Given the description of an element on the screen output the (x, y) to click on. 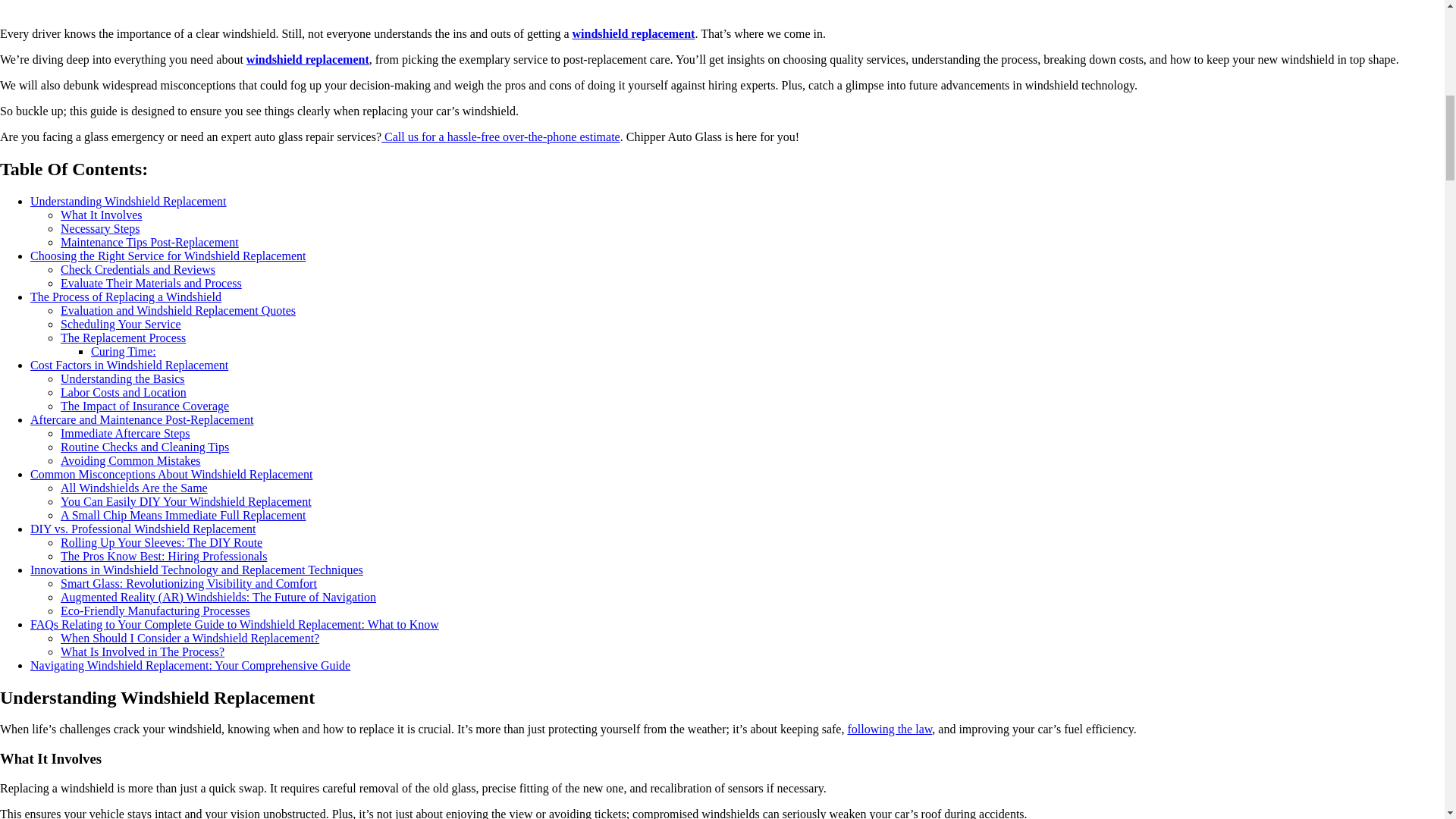
Cost Factors in Windshield Replacement (129, 364)
What It Involves (101, 214)
Aftercare and Maintenance Post-Replacement (141, 419)
The Process of Replacing a Windshield (125, 296)
Understanding Windshield Replacement (128, 201)
Choosing the Right Service for Windshield Replacement (167, 255)
Labor Costs and Location (123, 391)
windshield replacement (307, 59)
Check Credentials and Reviews (138, 269)
The Impact of Insurance Coverage (144, 405)
